Given the description of an element on the screen output the (x, y) to click on. 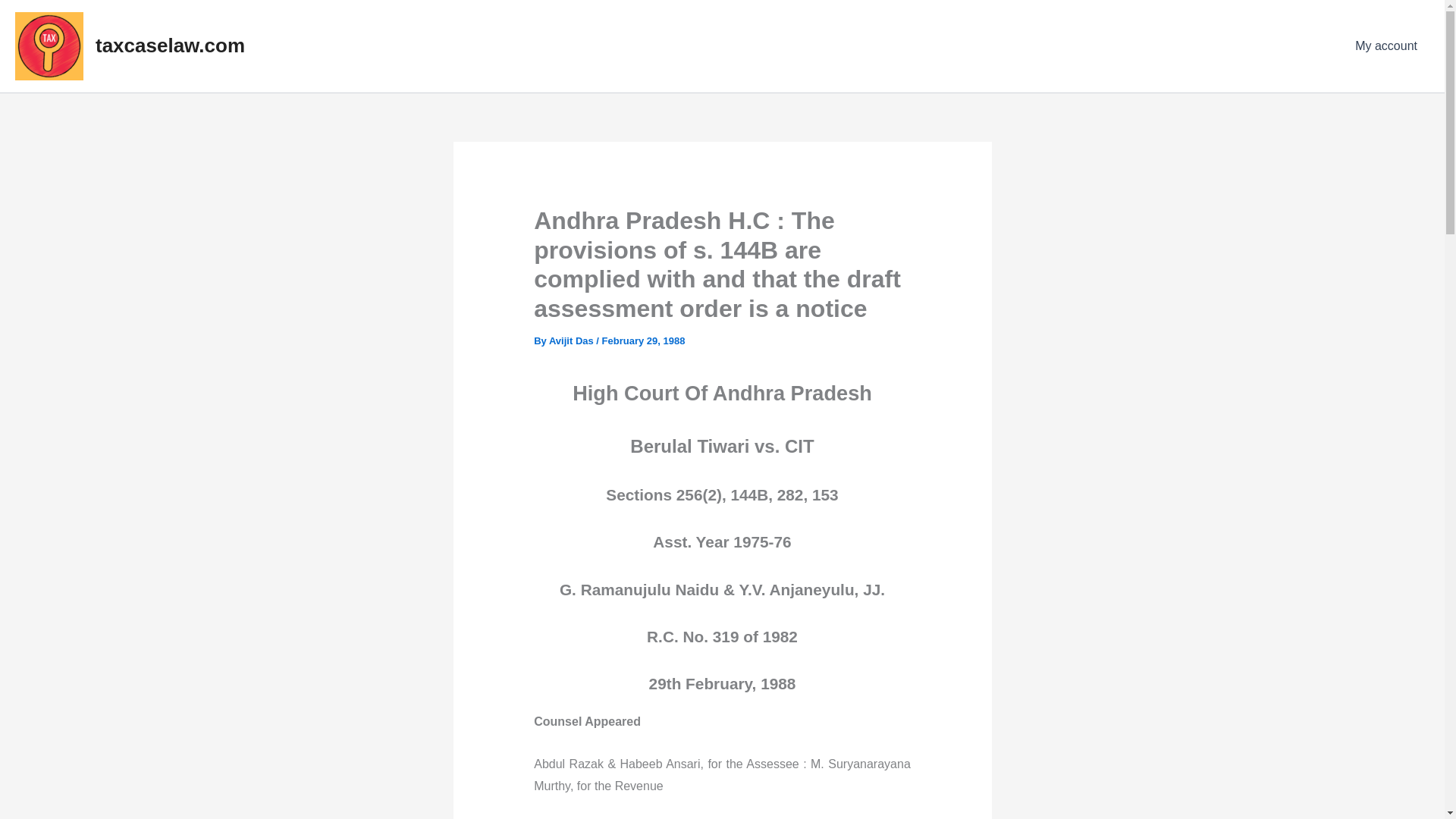
Avijit Das (571, 340)
My account (1385, 45)
taxcaselaw.com (170, 45)
View all posts by Avijit Das (571, 340)
